Given the description of an element on the screen output the (x, y) to click on. 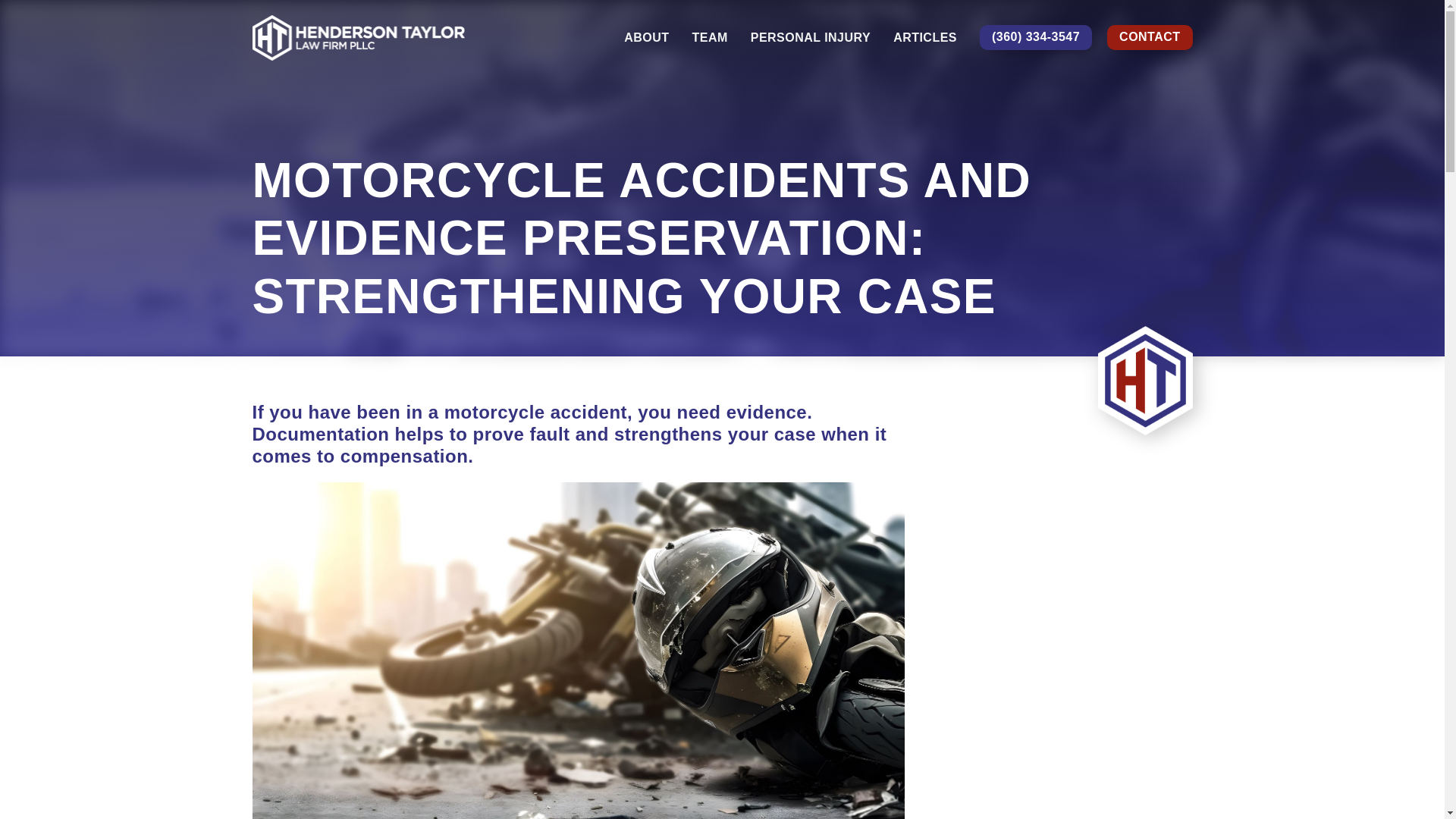
ABOUT (649, 37)
ARTICLES (924, 37)
TEAM (713, 37)
PERSONAL INJURY (813, 37)
